Given the description of an element on the screen output the (x, y) to click on. 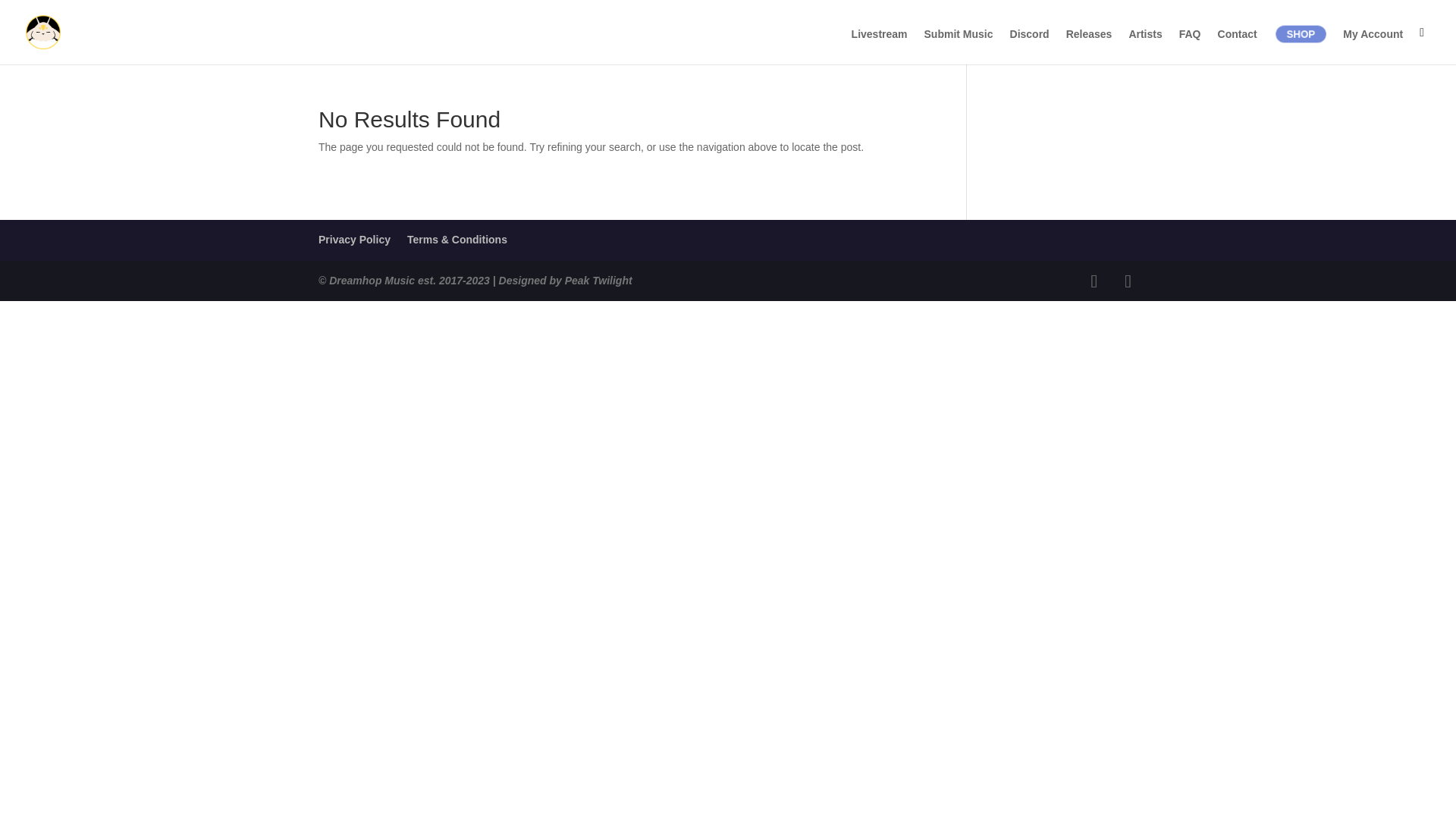
My Account (1372, 46)
Discord (1029, 46)
SHOP (1302, 34)
Releases (1088, 46)
Contact (1237, 46)
Artists (1144, 46)
Submit Music (958, 46)
Livestream (879, 46)
Privacy Policy (354, 239)
